Given the description of an element on the screen output the (x, y) to click on. 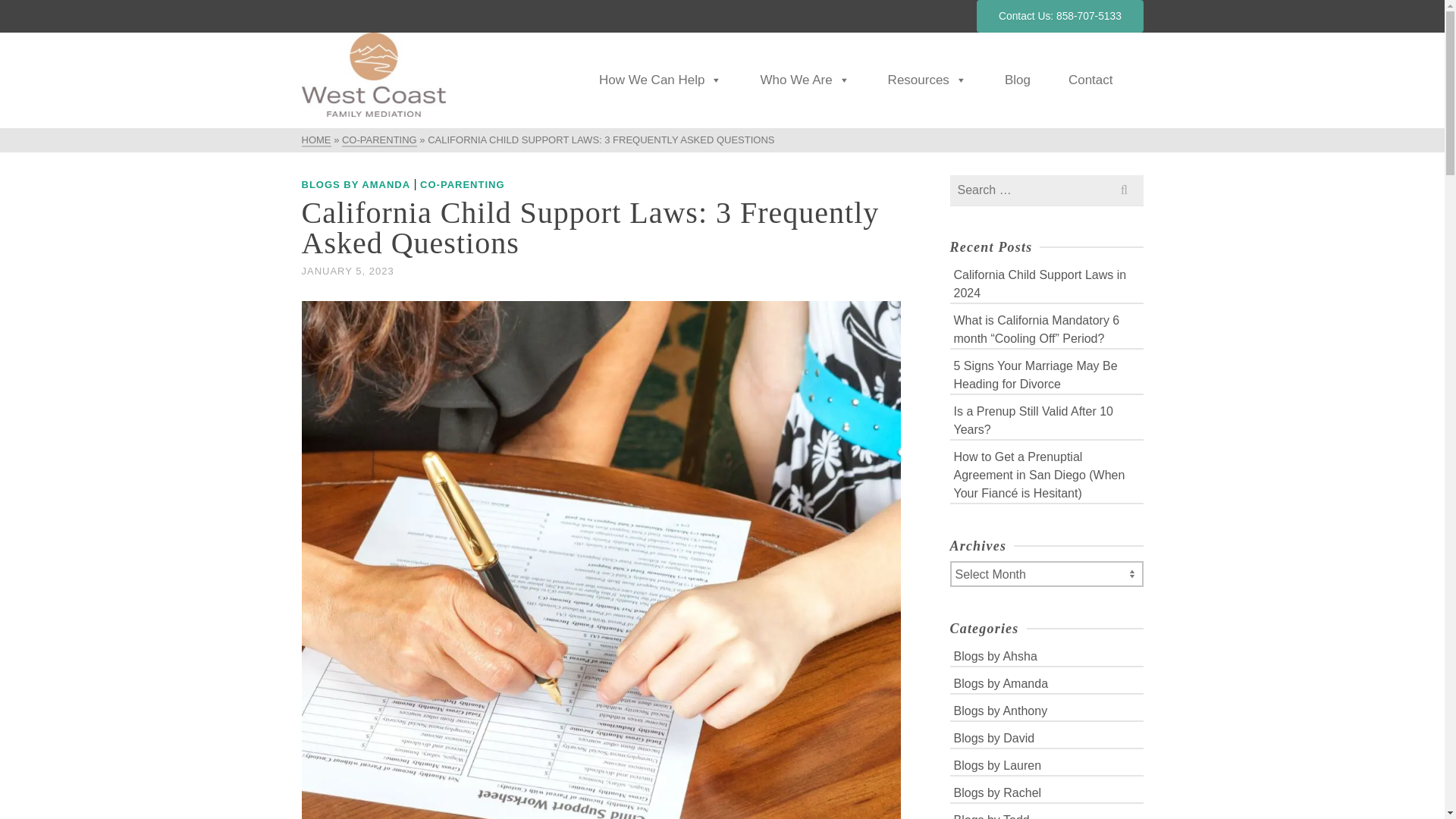
Who We Are (804, 80)
Contact Us: 858-707-5133 (1059, 16)
How We Can Help (660, 80)
Resources (926, 80)
